Given the description of an element on the screen output the (x, y) to click on. 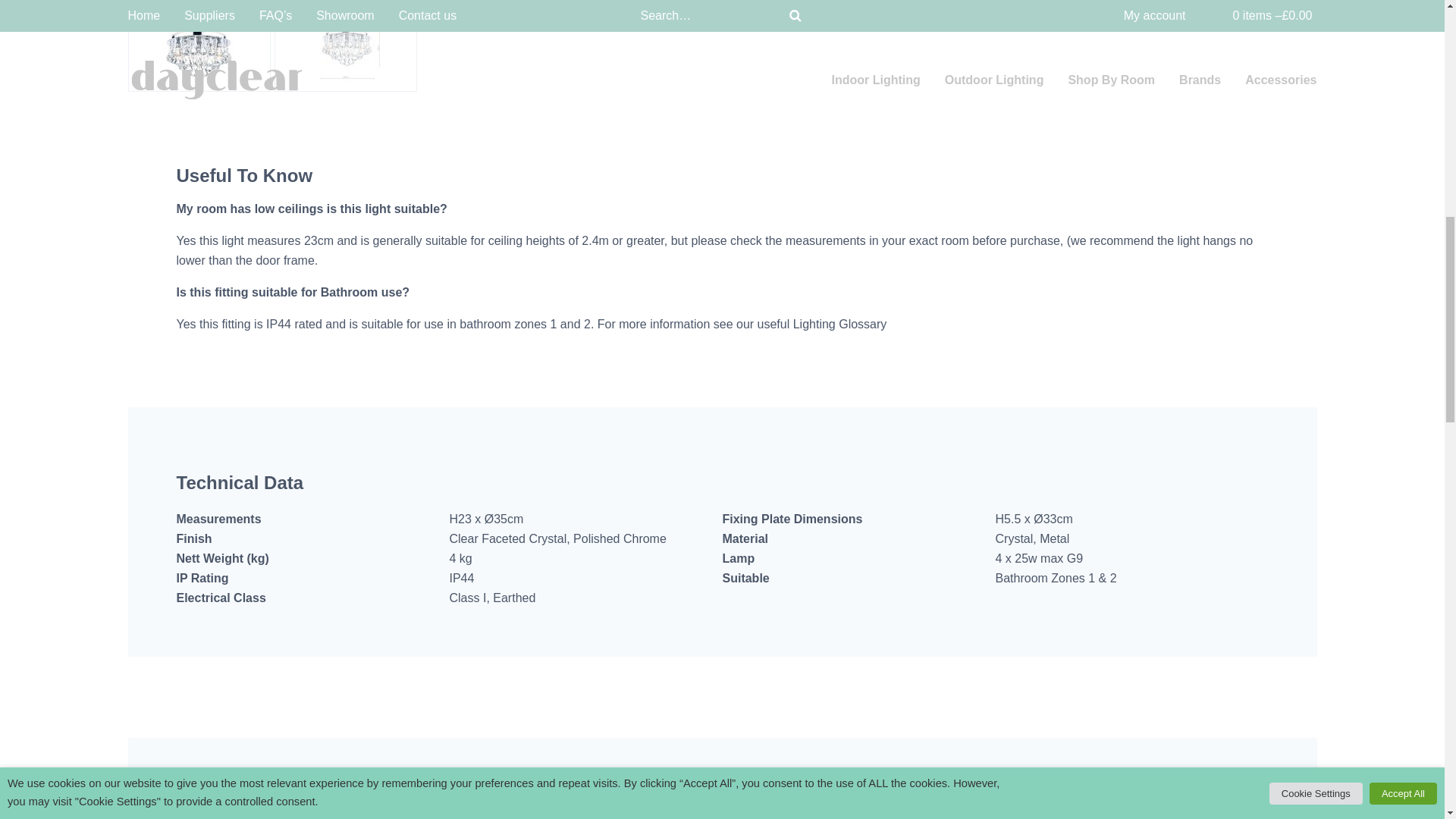
Customer reviews powered by Trustpilot (799, 684)
